Given the description of an element on the screen output the (x, y) to click on. 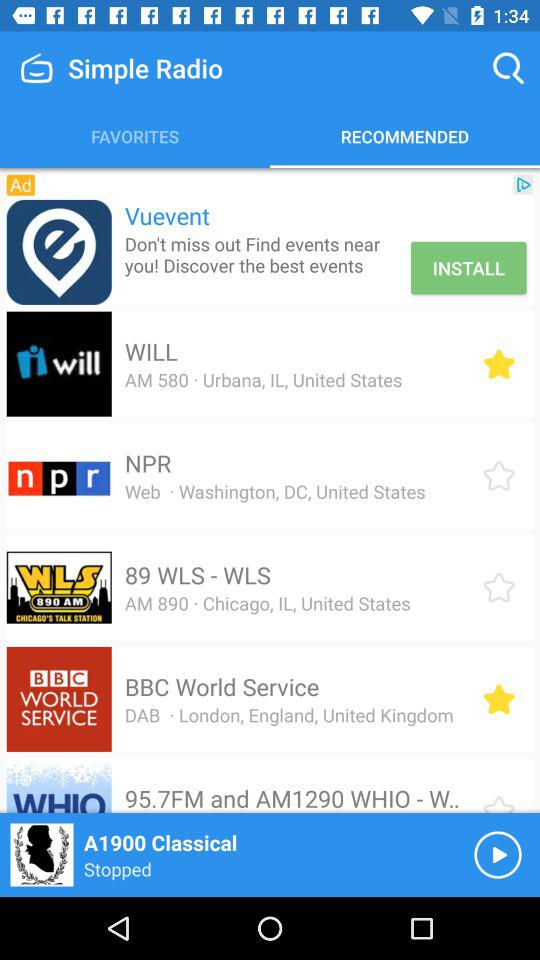
opens a company 's website (58, 251)
